Given the description of an element on the screen output the (x, y) to click on. 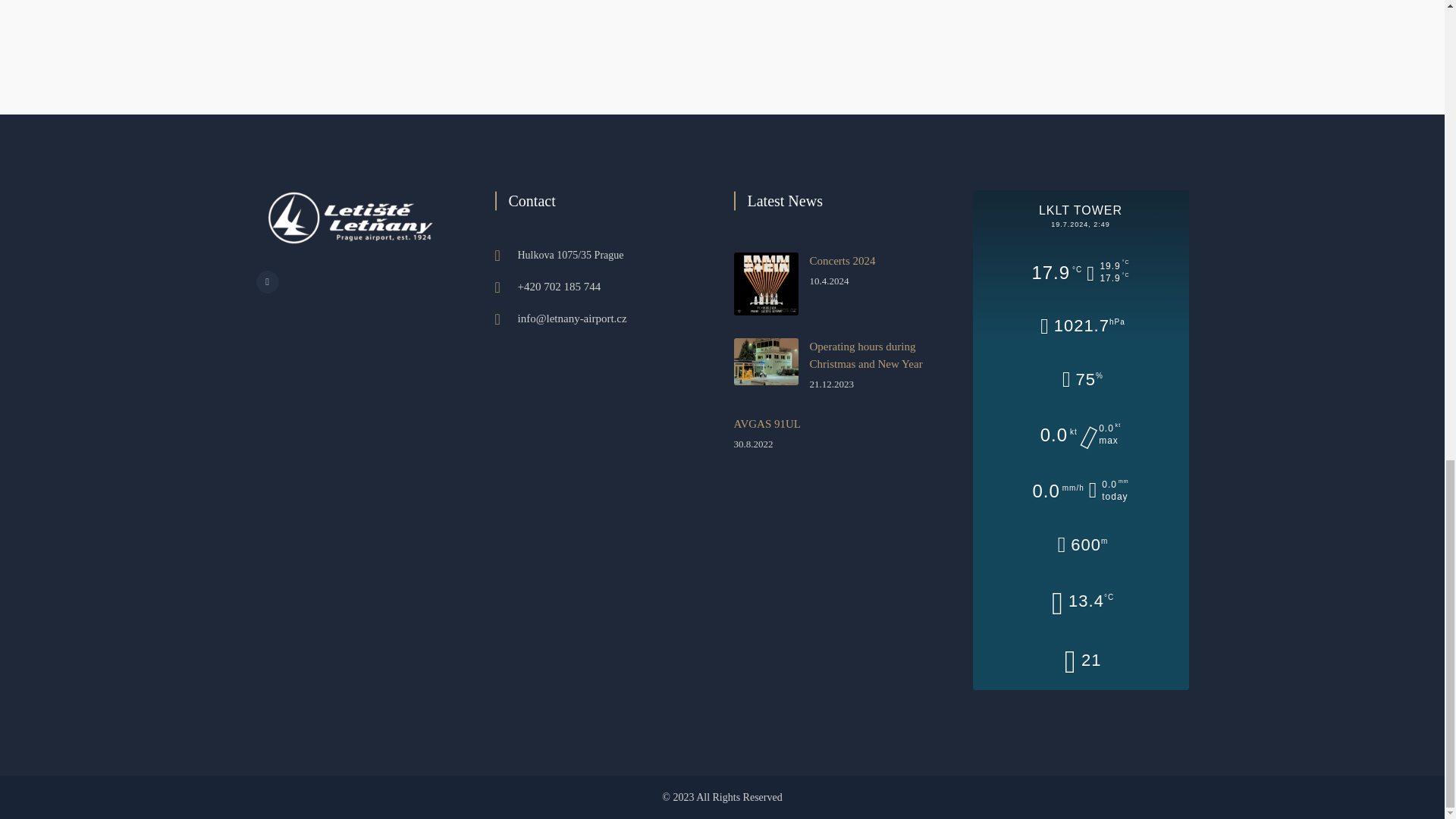
Wind from Northeast (1081, 434)
Rainfall (1080, 490)
Temperature (1079, 272)
Dew point (1079, 602)
Relative humidity (1080, 380)
Cloud base altitude (1080, 545)
Humidex (1080, 661)
Barometric pressure (1080, 327)
